Given the description of an element on the screen output the (x, y) to click on. 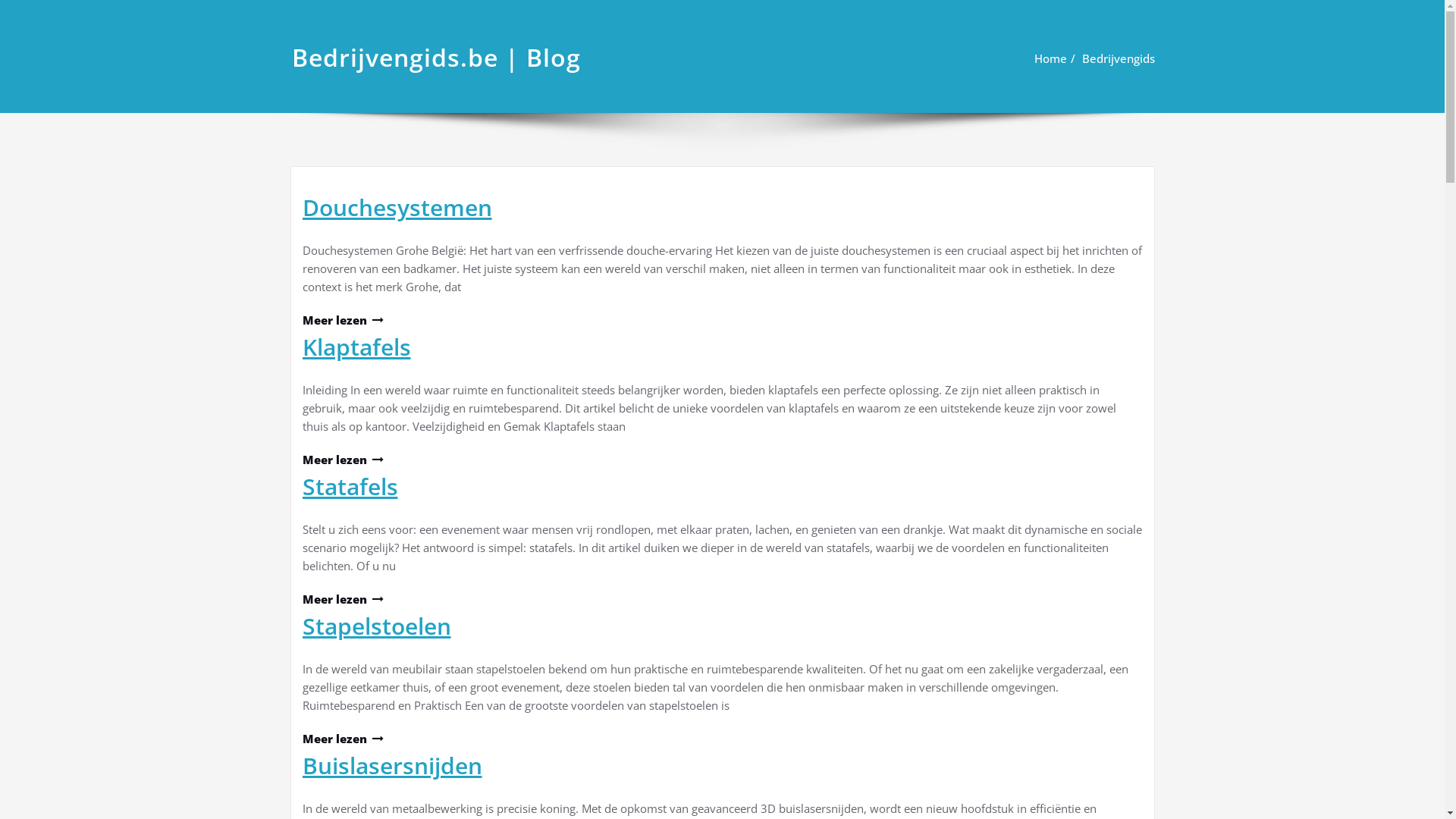
Stapelstoelen Element type: text (375, 625)
Meer lezen Element type: text (341, 598)
Meer lezen Element type: text (341, 738)
Klaptafels Element type: text (355, 346)
Meer lezen Element type: text (341, 319)
Douchesystemen Element type: text (396, 206)
Home Element type: text (1050, 57)
Buislasersnijden Element type: text (391, 765)
Bedrijvengids Element type: text (1117, 57)
Statafels Element type: text (349, 486)
Meer lezen Element type: text (341, 459)
